Given the description of an element on the screen output the (x, y) to click on. 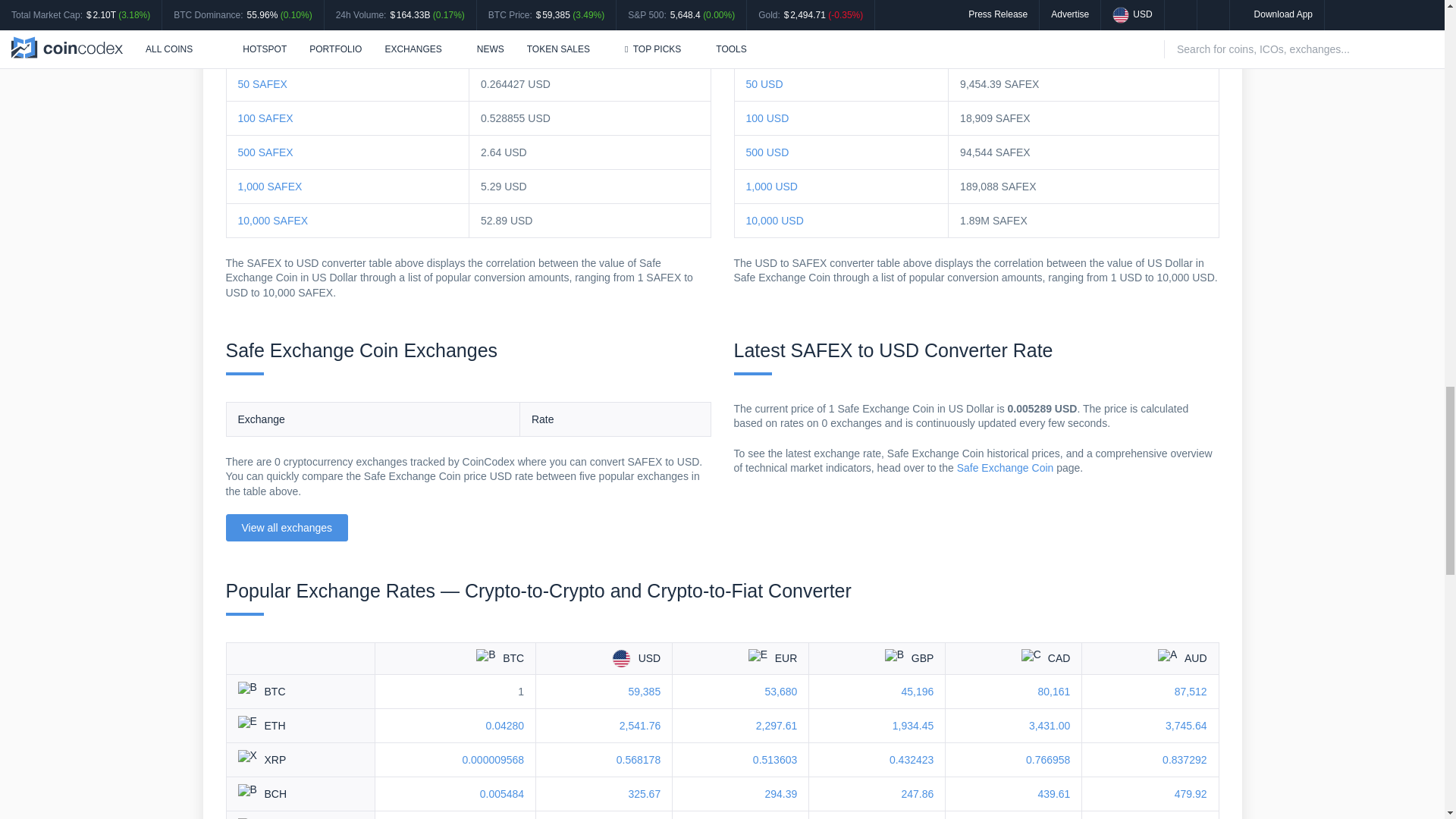
25 USD (764, 50)
500 SAFEX (266, 152)
1,000 SAFEX (270, 186)
10,000 SAFEX (273, 220)
50 SAFEX (262, 83)
10 SAFEX (262, 15)
10 USD (764, 15)
25 SAFEX (262, 50)
100 SAFEX (266, 118)
100 USD (767, 118)
